Given the description of an element on the screen output the (x, y) to click on. 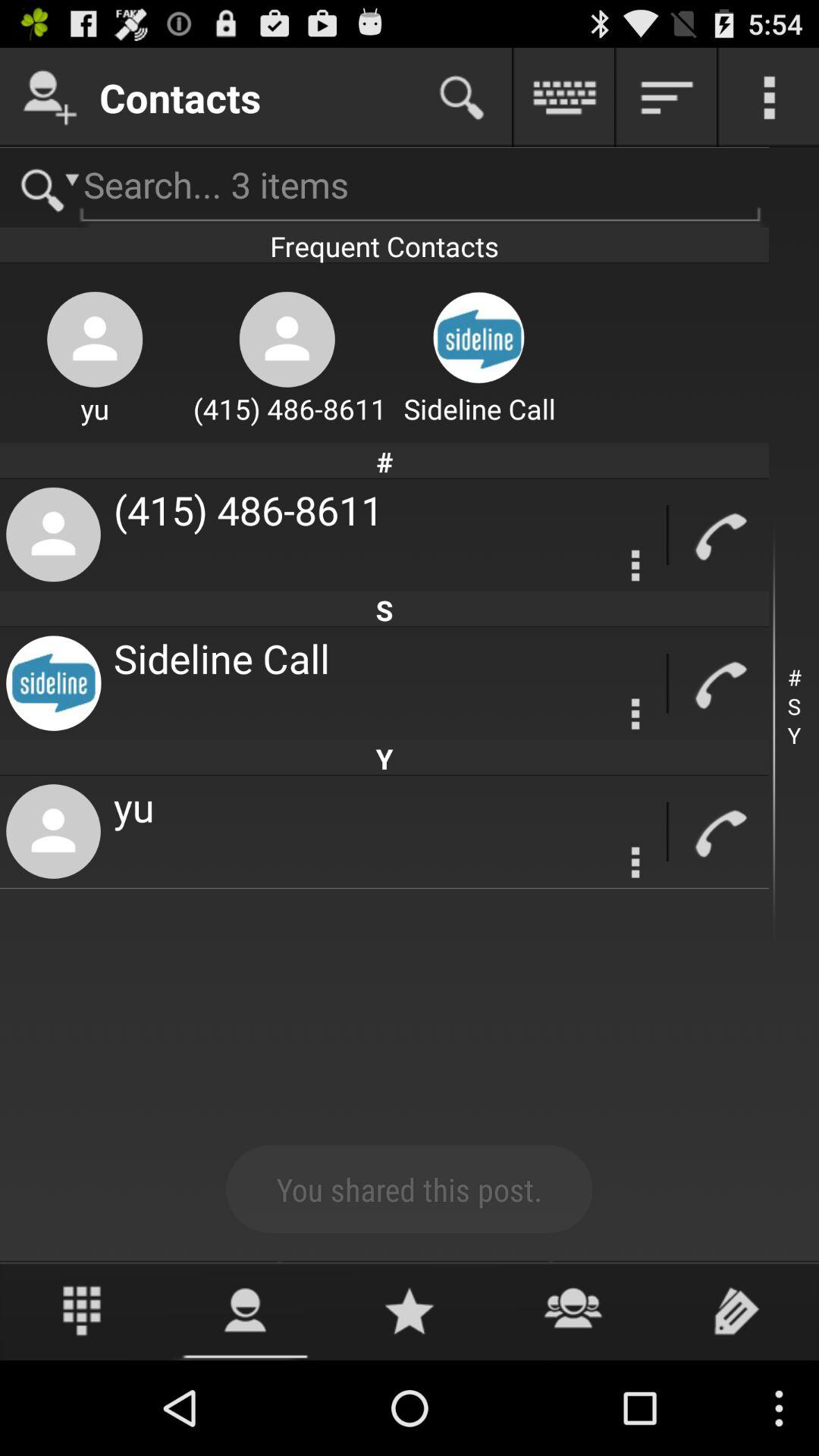
open favourites tab (409, 1310)
